Given the description of an element on the screen output the (x, y) to click on. 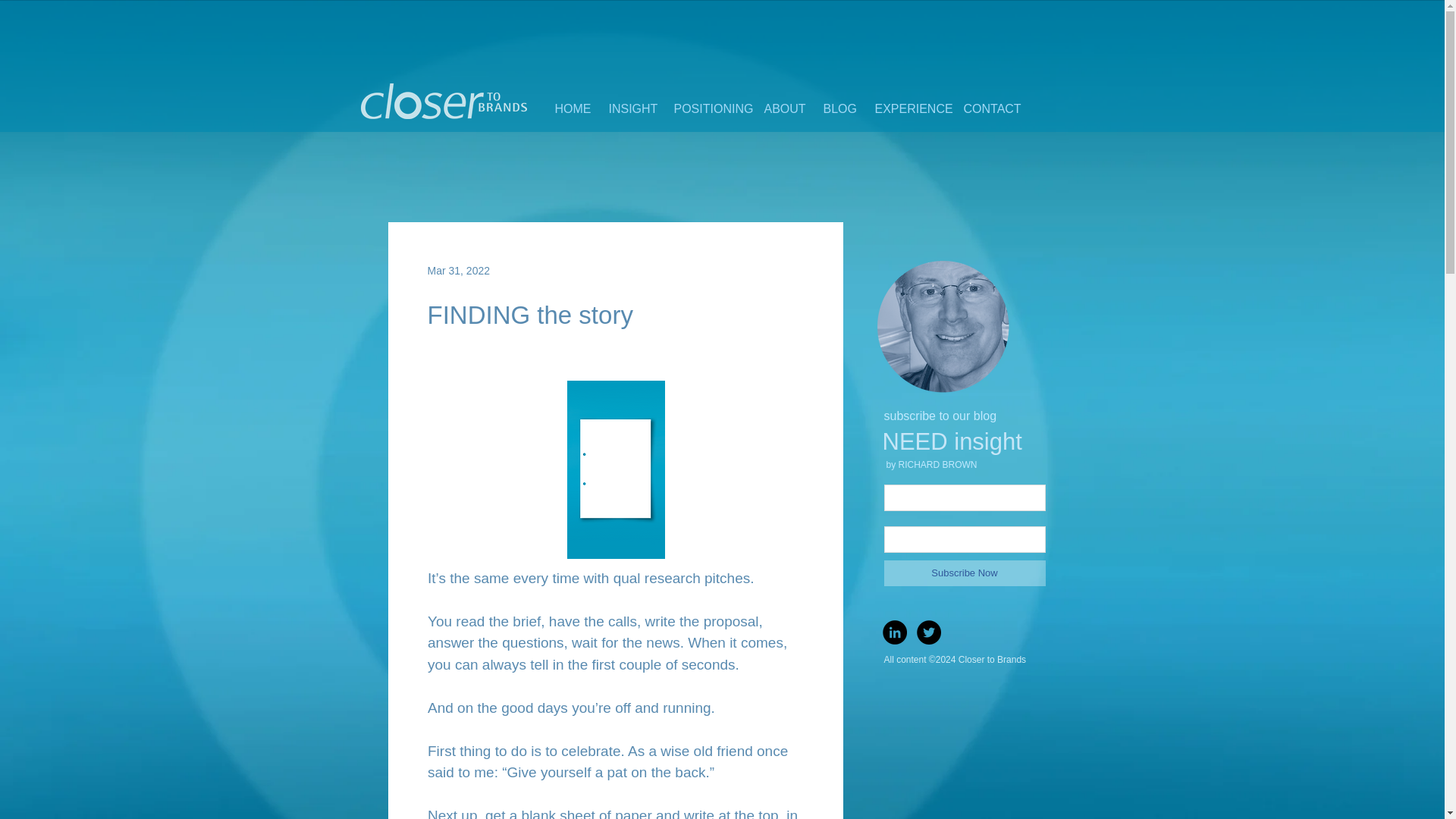
EXPERIENCE (907, 108)
BLOG (836, 108)
Subscribe Now (964, 573)
ABOUT (781, 108)
INSIGHT (629, 108)
CONTACT (987, 108)
Mar 31, 2022 (459, 269)
POSITIONING (707, 108)
HOME (569, 108)
